Given the description of an element on the screen output the (x, y) to click on. 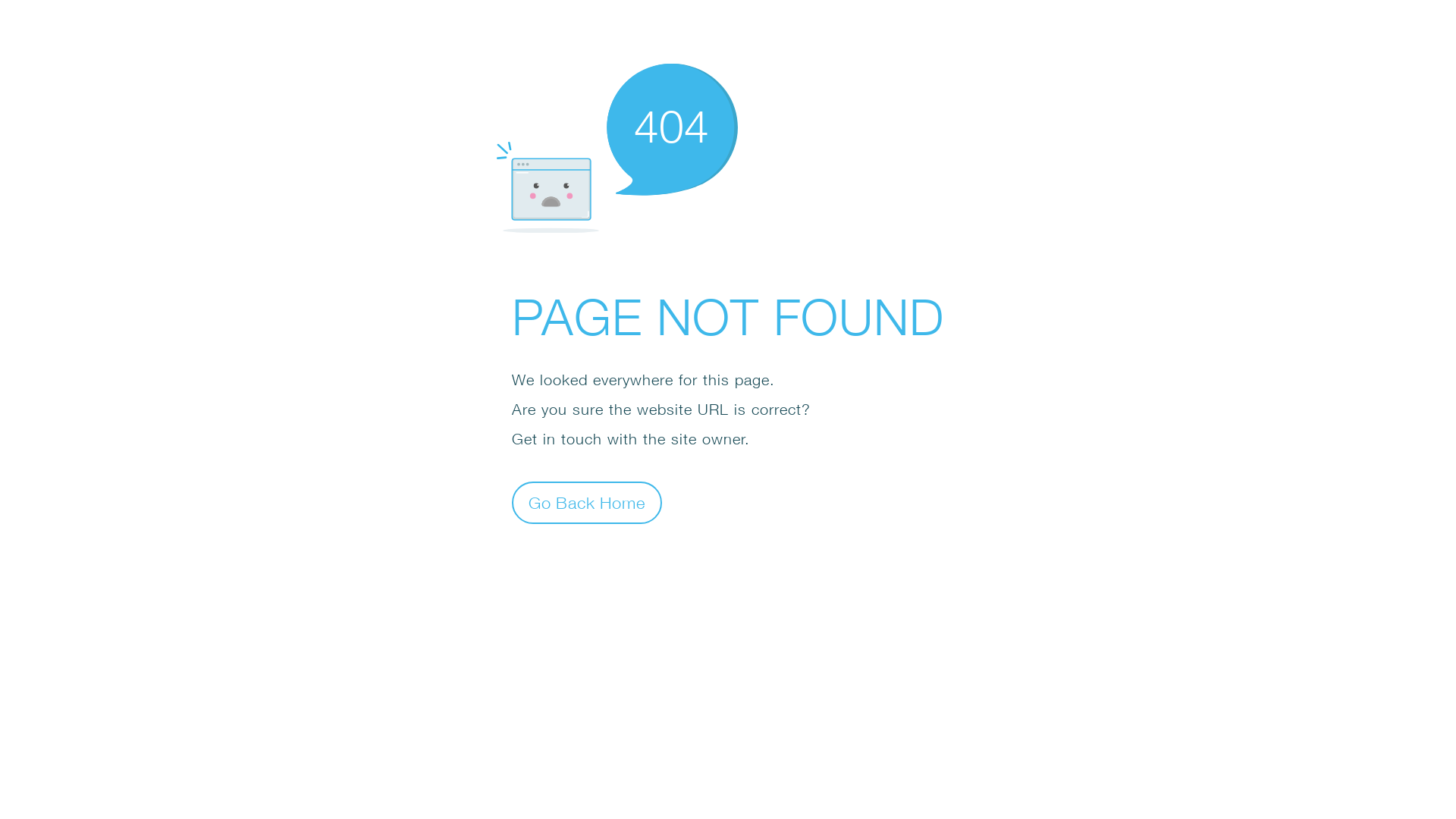
Go Back Home Element type: text (586, 502)
